Given the description of an element on the screen output the (x, y) to click on. 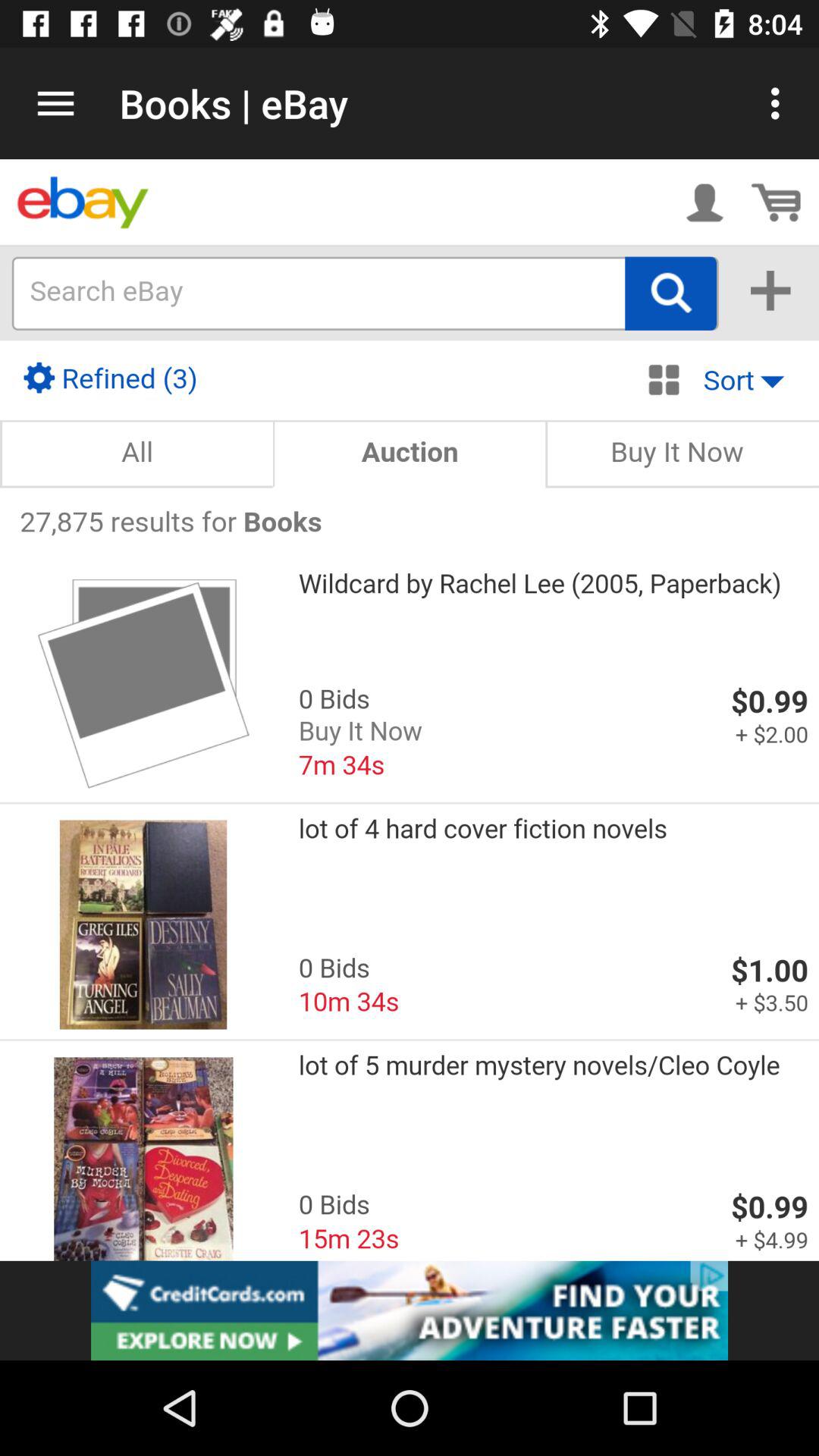
open advertisement (409, 1310)
